Given the description of an element on the screen output the (x, y) to click on. 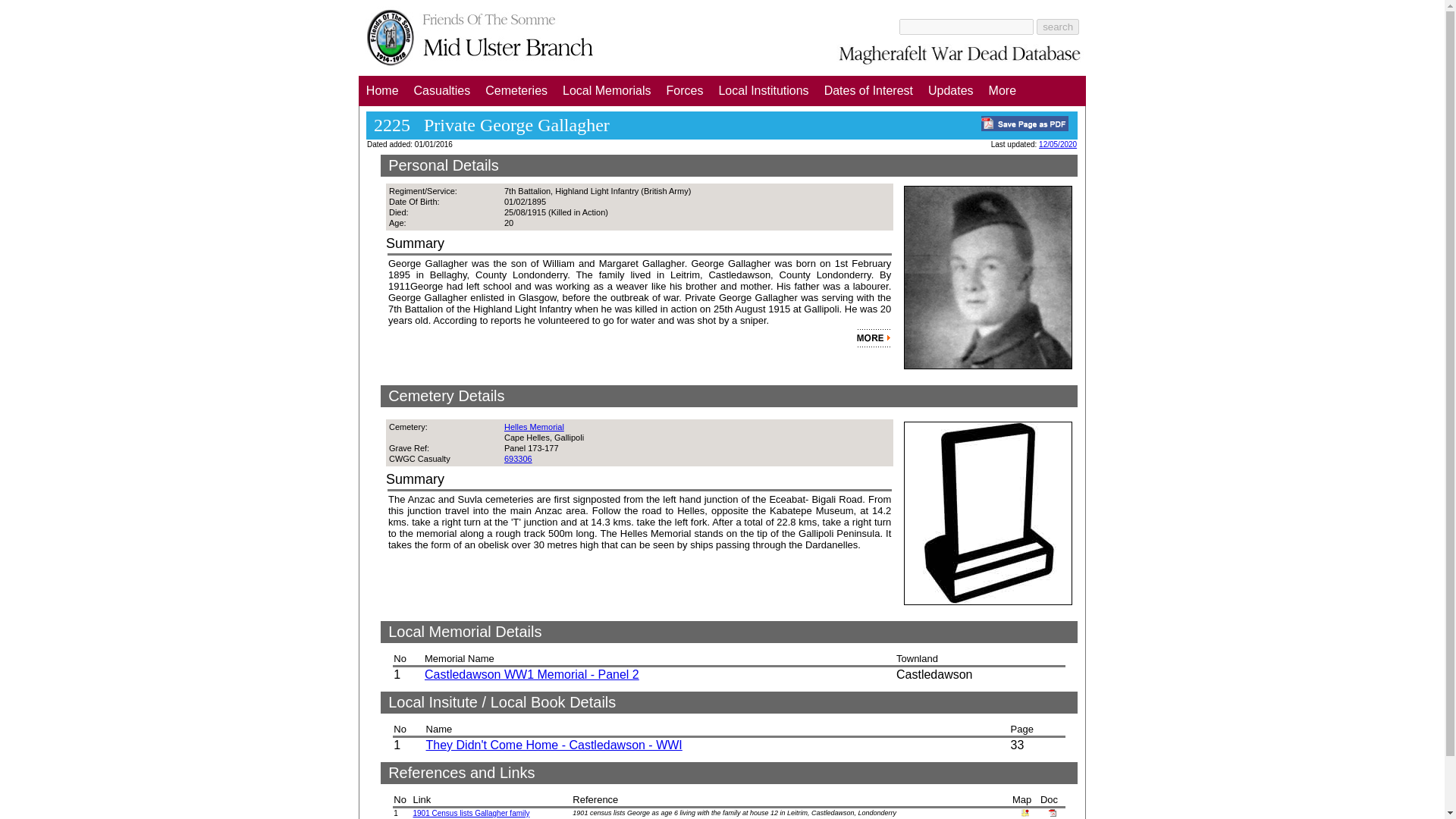
search (1057, 26)
Local Institutions (762, 91)
Home (382, 91)
More (1002, 91)
Cemeteries (515, 91)
Dates of Interest (868, 91)
Leitrim, Castledawson (1025, 813)
Local Memorials (606, 91)
